Given the description of an element on the screen output the (x, y) to click on. 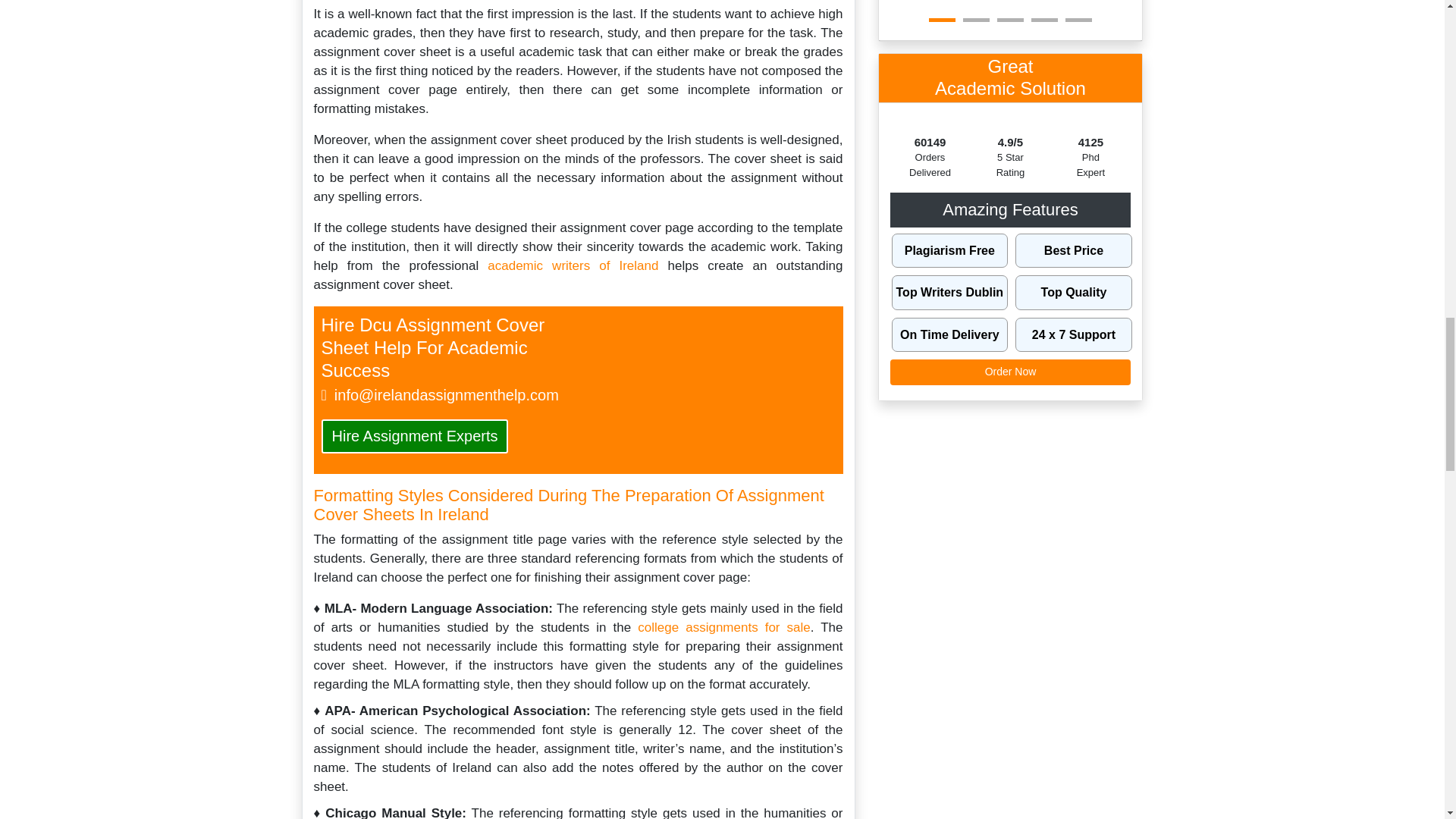
Ireland Academic Writers (572, 265)
College Assignments for Sale (723, 626)
Quick Chat With Writers (694, 393)
